Given the description of an element on the screen output the (x, y) to click on. 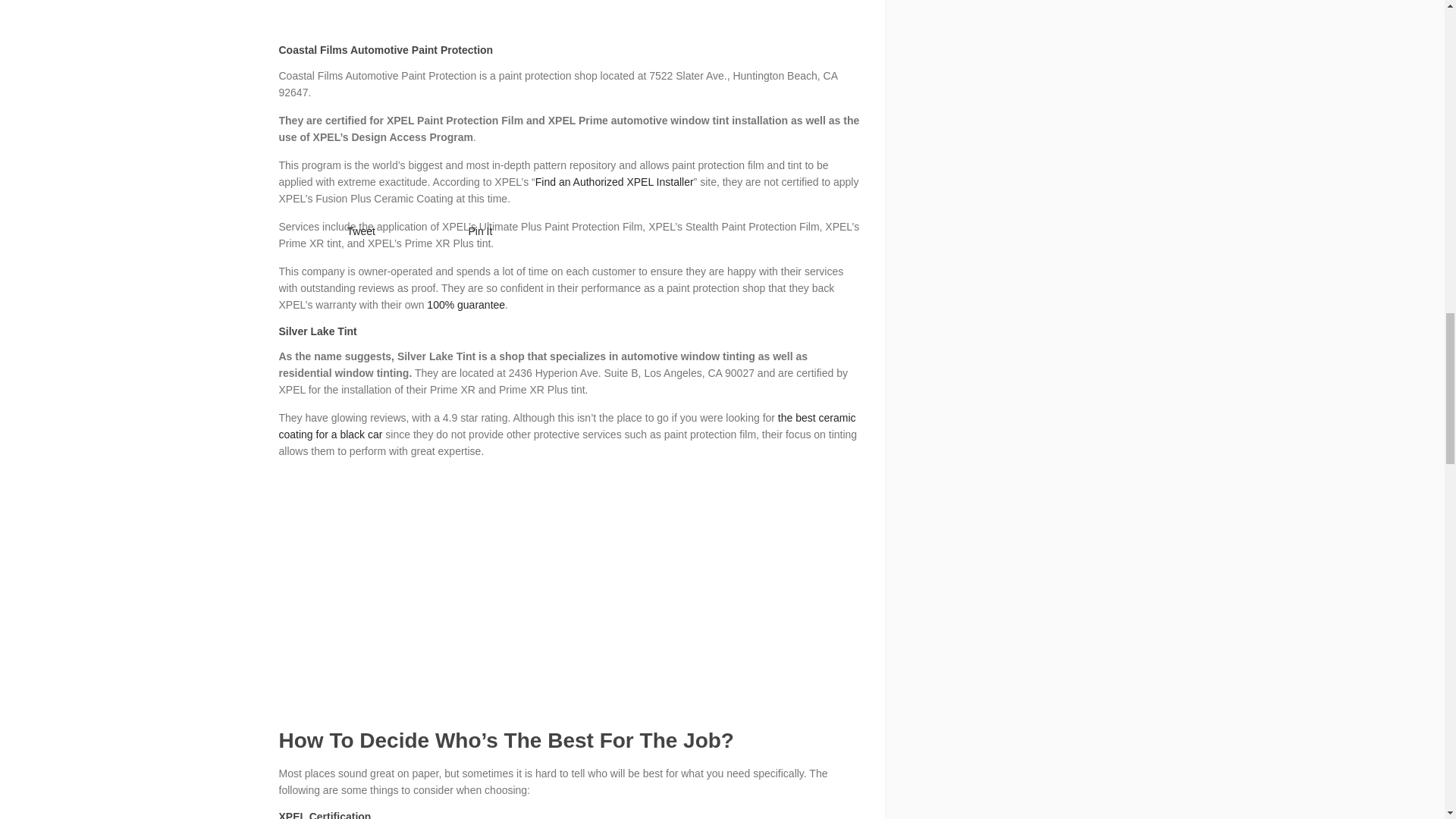
Find an Authorized XPEL Installer (614, 182)
the best ceramic coating for a black car (567, 425)
